Given the description of an element on the screen output the (x, y) to click on. 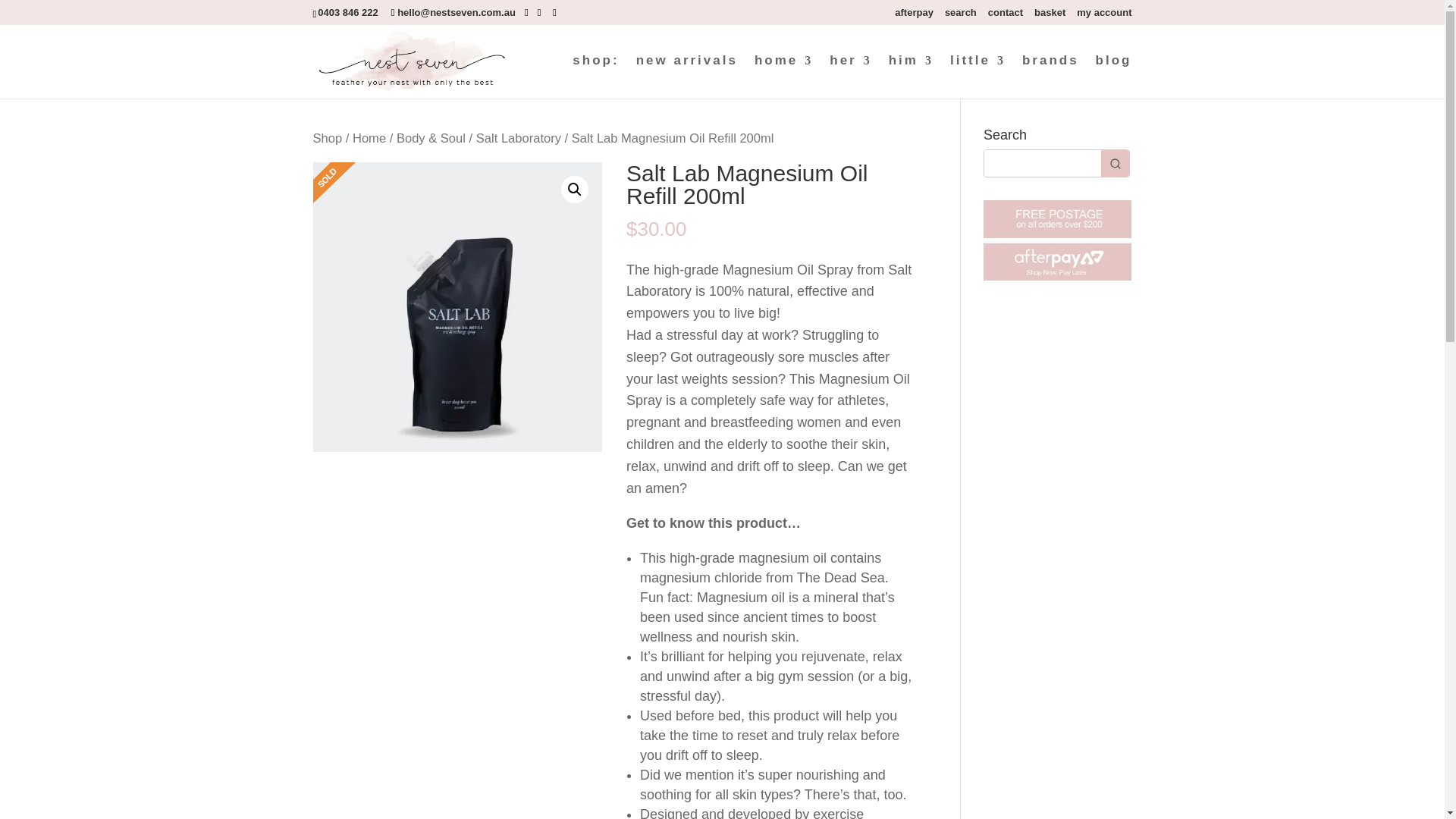
afterpay (914, 16)
her (849, 76)
my account (1104, 16)
little (978, 76)
basket (1049, 16)
new arrivals (687, 76)
contact (1005, 16)
him (910, 76)
shop: (595, 76)
search (960, 16)
